Given the description of an element on the screen output the (x, y) to click on. 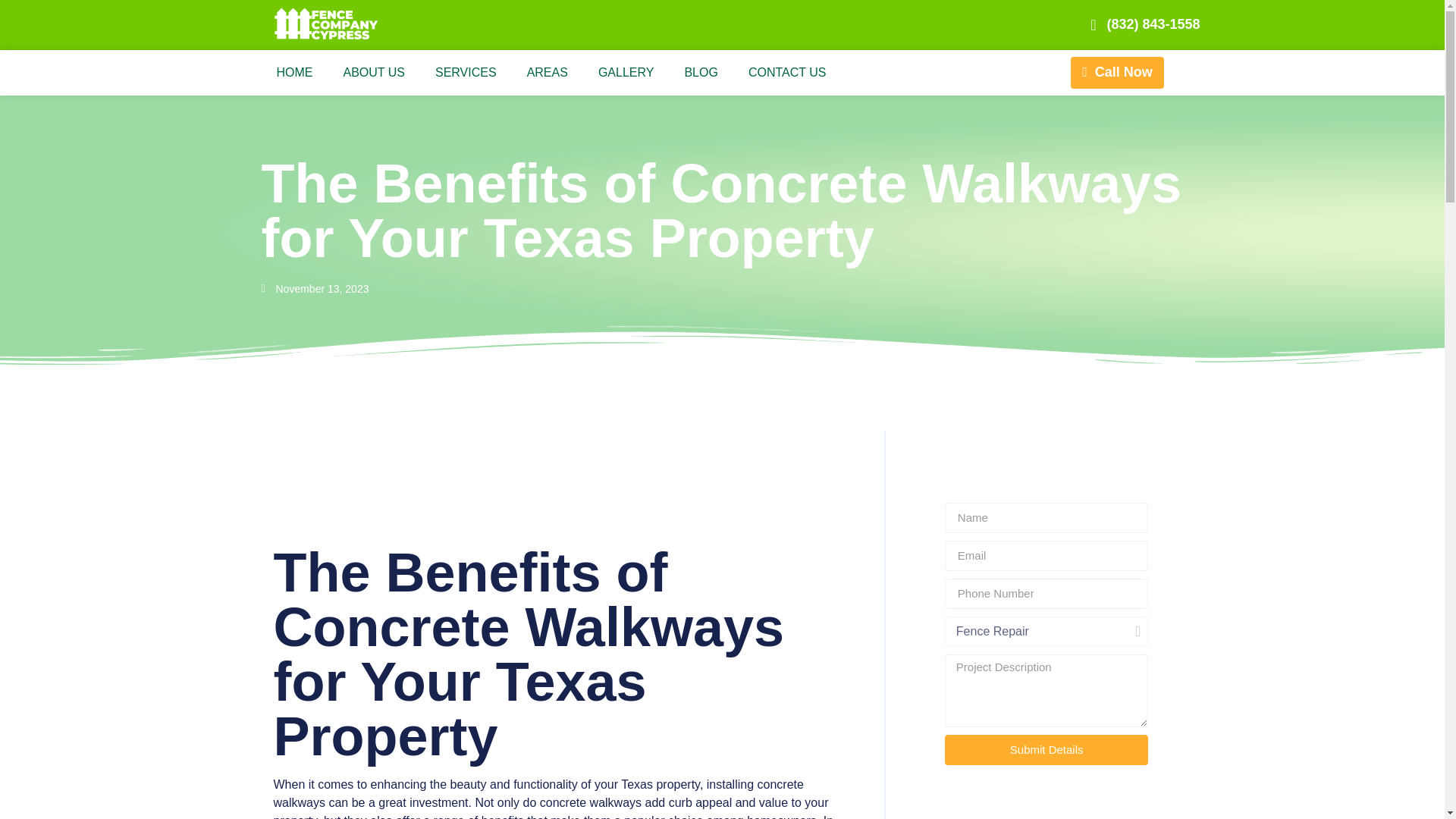
Call Now (1116, 72)
CONTACT US (787, 72)
ABOUT US (373, 72)
SERVICES (466, 72)
GALLERY (626, 72)
AREAS (547, 72)
Logo (335, 24)
BLOG (700, 72)
HOME (293, 72)
